Given the description of an element on the screen output the (x, y) to click on. 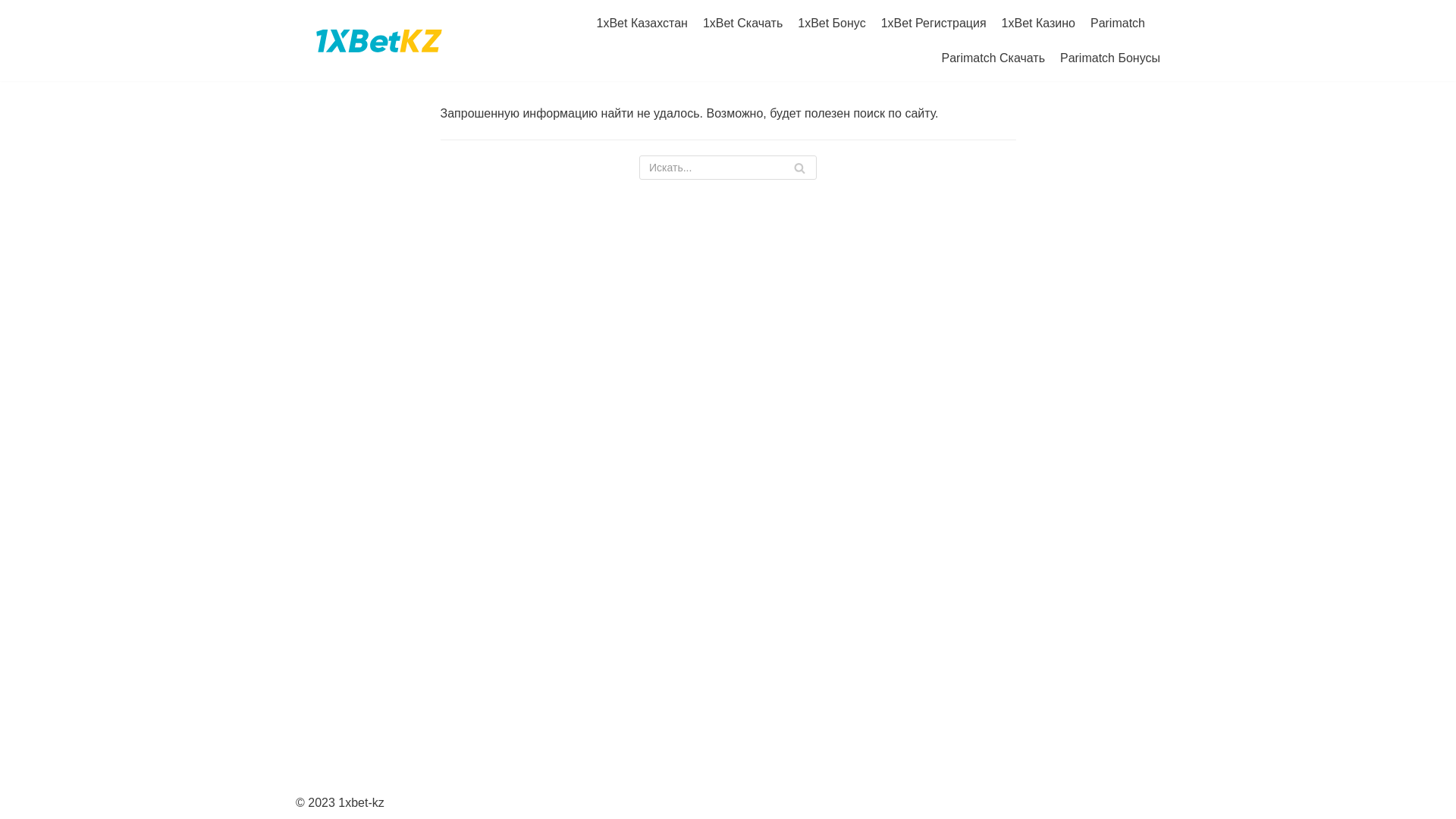
Parimatch Element type: text (1117, 23)
